Given the description of an element on the screen output the (x, y) to click on. 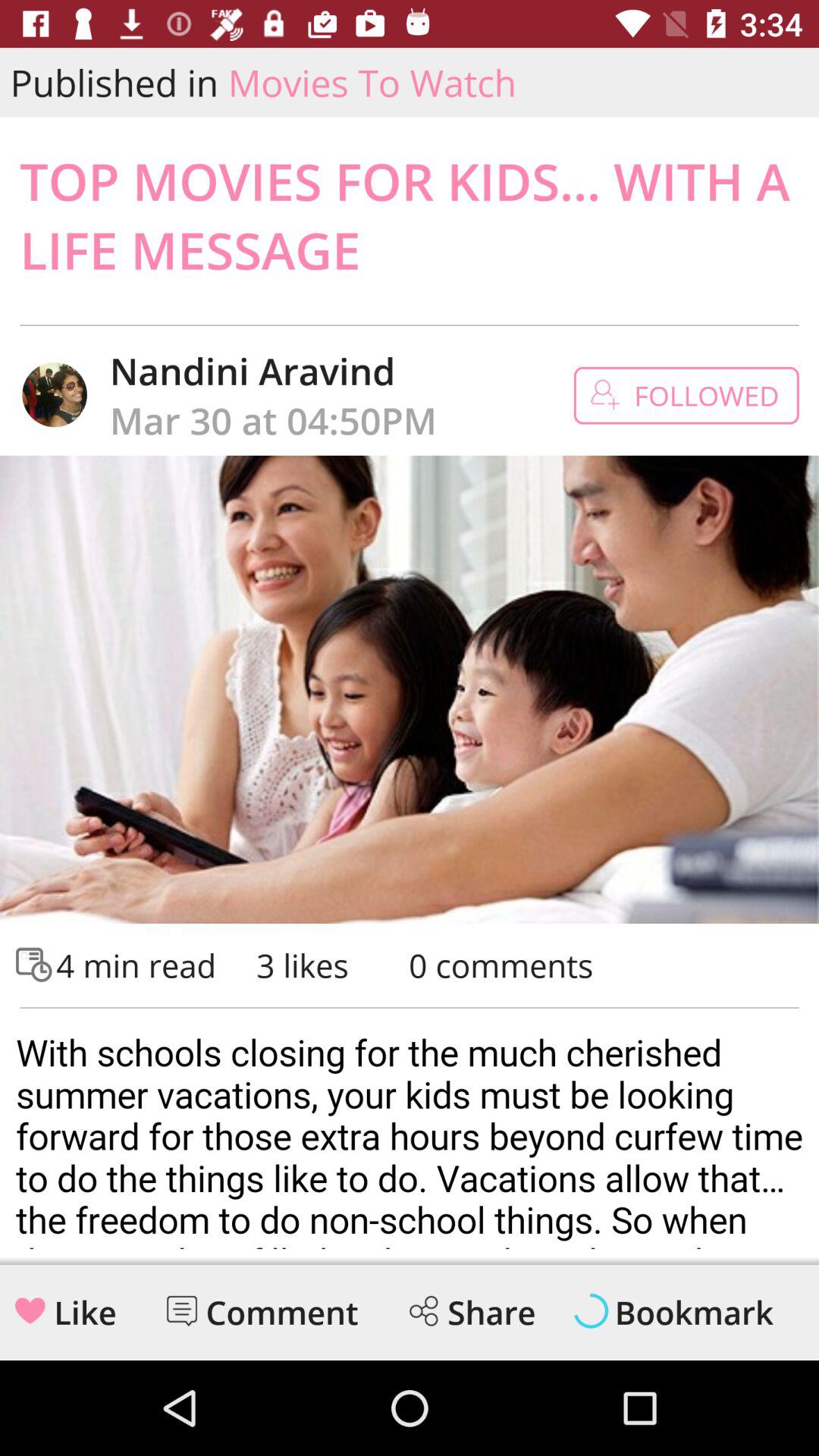
leave a coment (181, 1310)
